Given the description of an element on the screen output the (x, y) to click on. 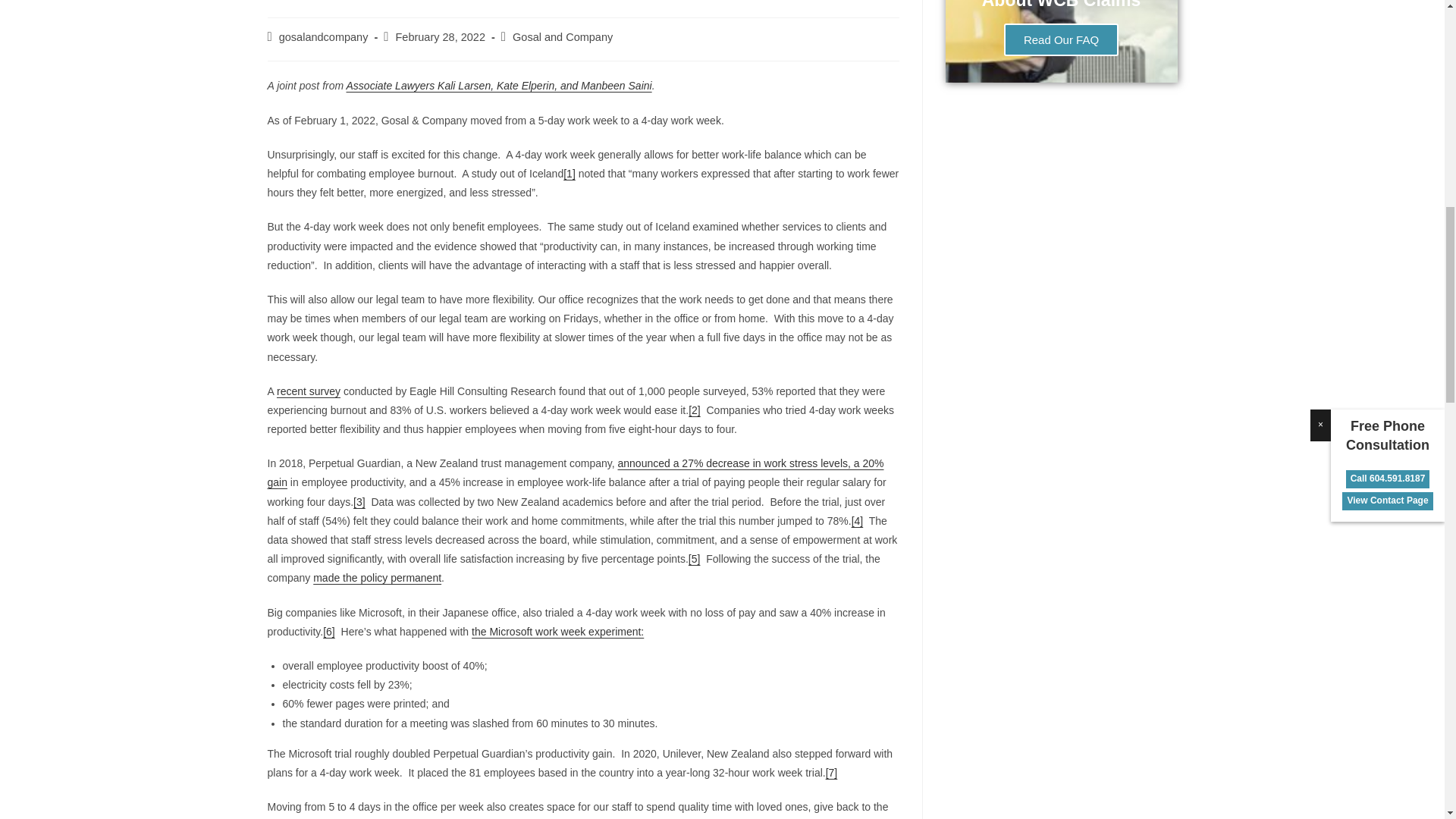
Gosal and Company (562, 37)
recent survey (308, 390)
gosalandcompany (323, 37)
Posts by gosalandcompany (323, 37)
